Given the description of an element on the screen output the (x, y) to click on. 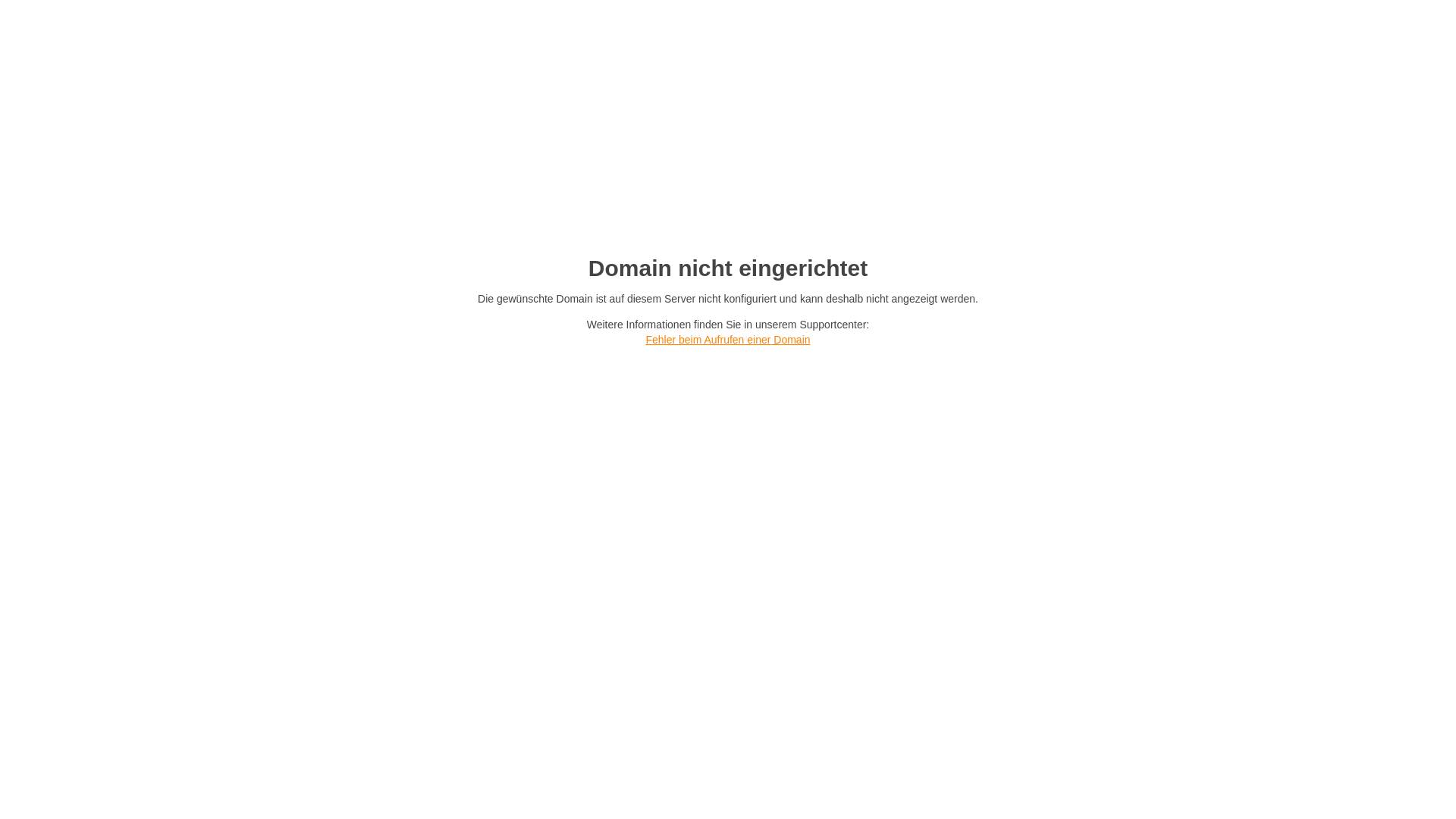
Fehler beim Aufrufen einer Domain Element type: text (727, 339)
